Given the description of an element on the screen output the (x, y) to click on. 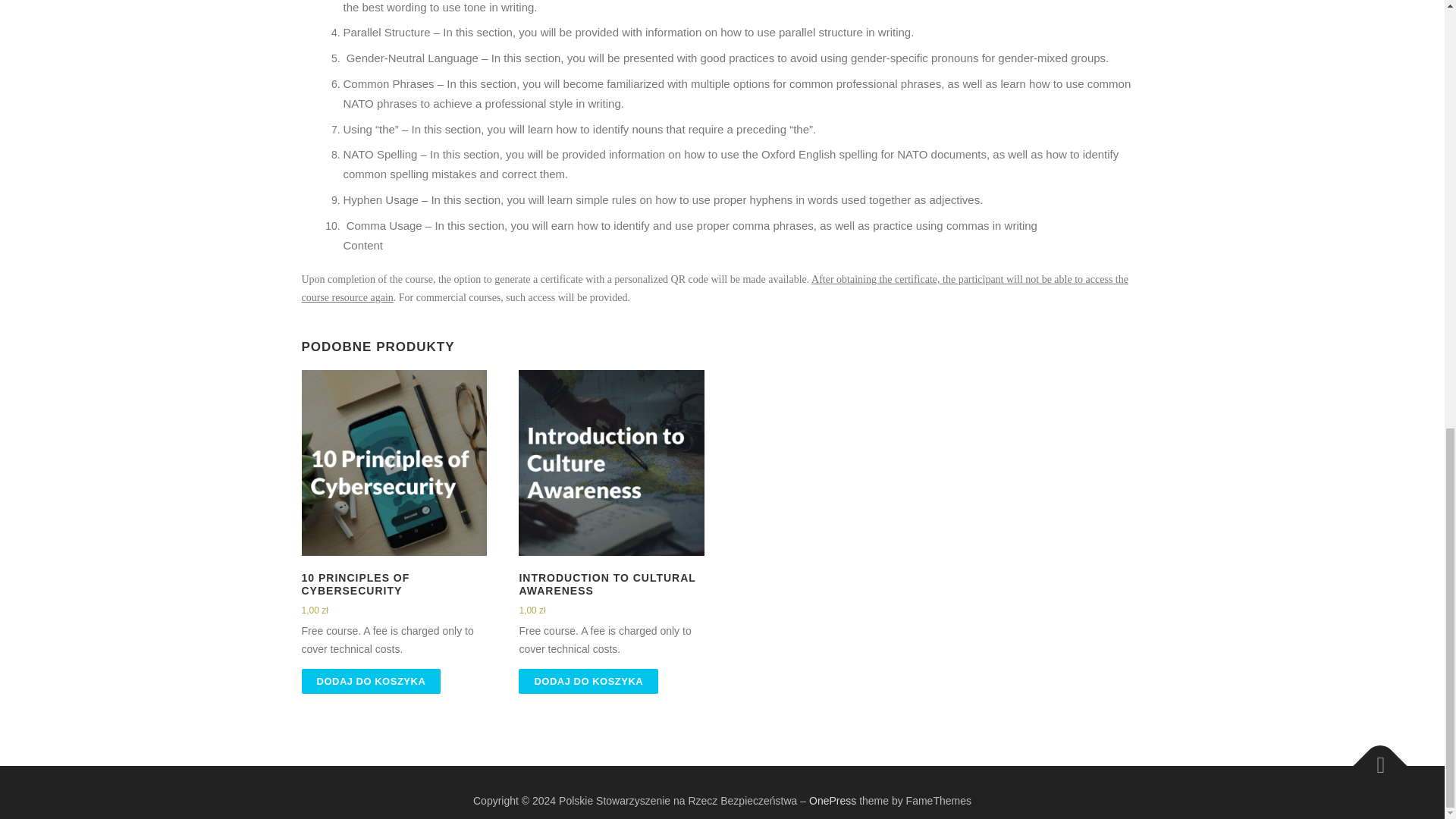
OnePress (832, 800)
DODAJ DO KOSZYKA (371, 681)
DODAJ DO KOSZYKA (588, 681)
